Given the description of an element on the screen output the (x, y) to click on. 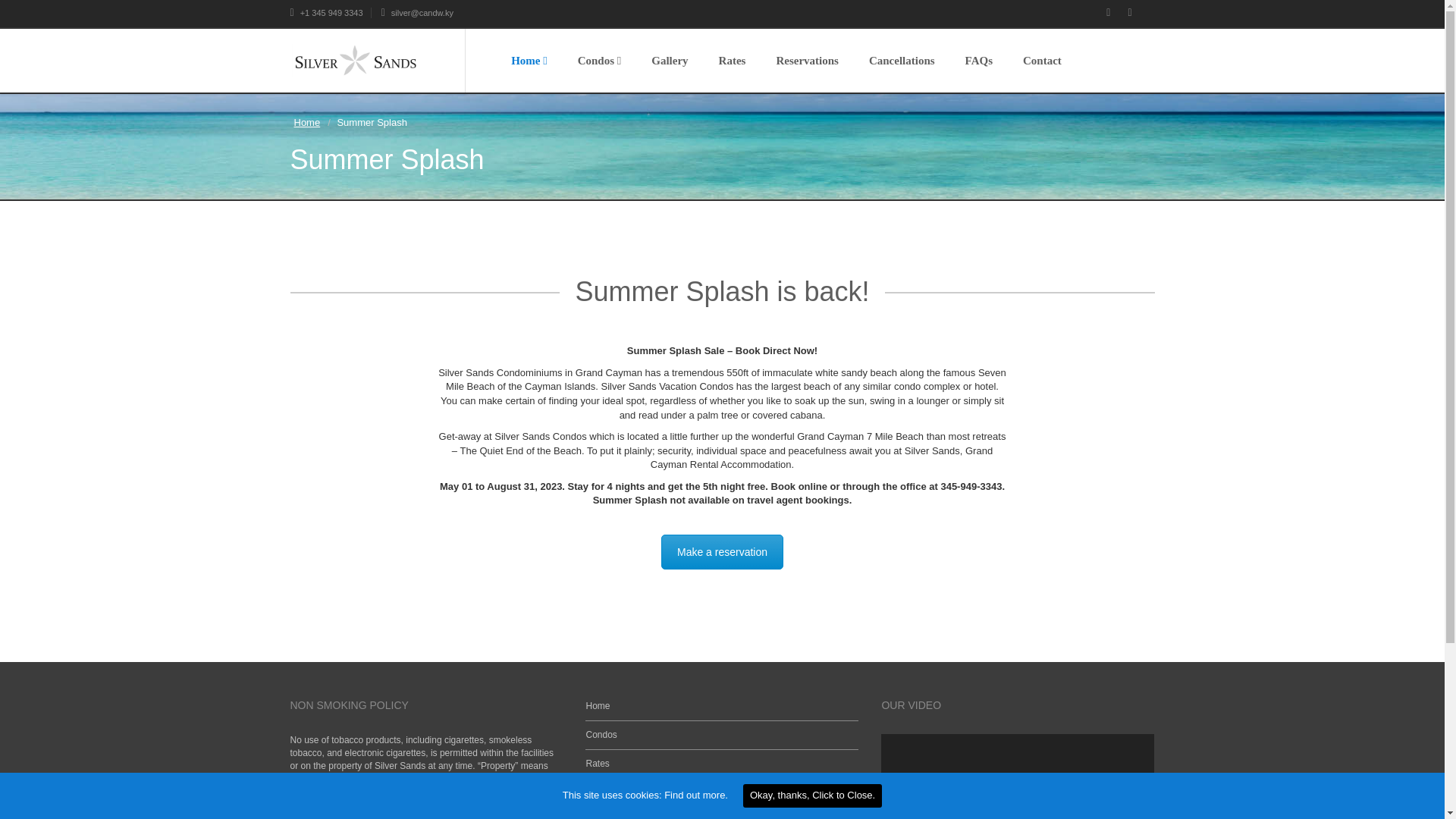
Home (529, 60)
Gallery (669, 60)
Condos (600, 734)
Home (306, 122)
Home (597, 706)
Rates (732, 60)
Cancellations (901, 60)
Reservations (806, 60)
Condos (599, 60)
Make a reservation (722, 551)
